Given the description of an element on the screen output the (x, y) to click on. 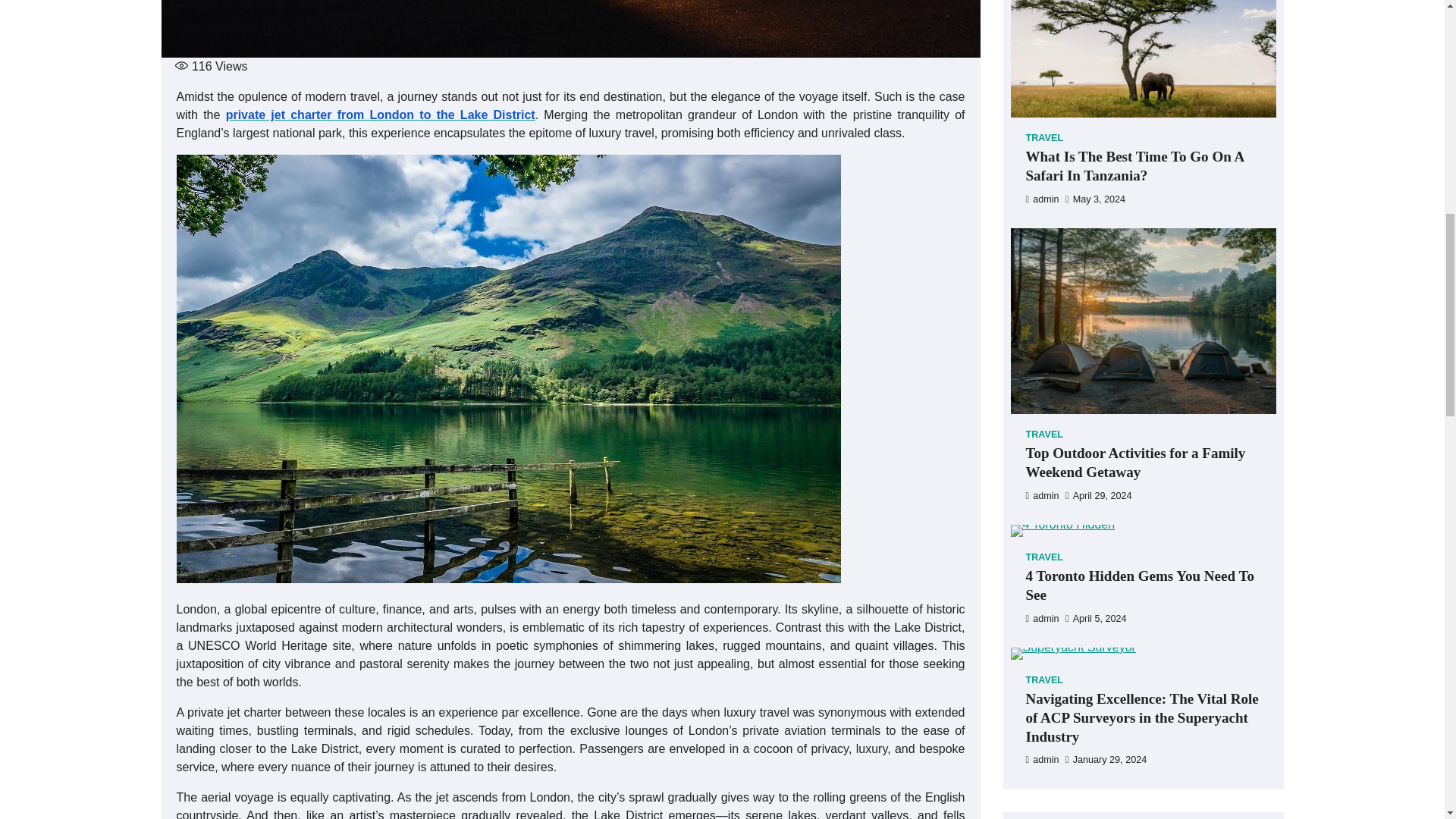
private jet charter from London to the Lake District (380, 114)
